Given the description of an element on the screen output the (x, y) to click on. 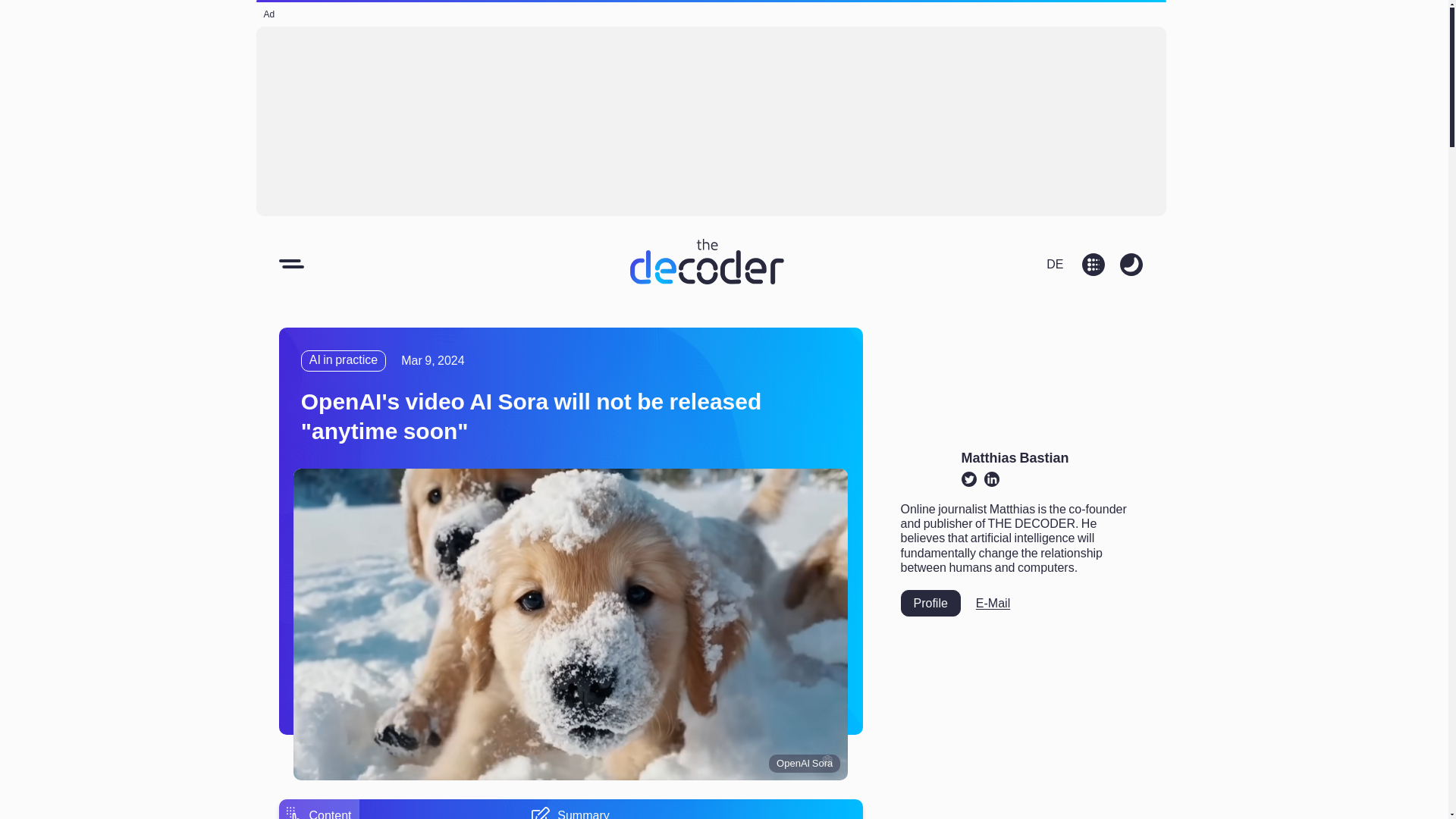
AI in practice (343, 360)
the-decoder.de (1054, 263)
Summary (569, 812)
E-Mail (992, 603)
Matthias Bastian (1014, 458)
Profile (930, 602)
DE (1054, 263)
Email (992, 603)
